Given the description of an element on the screen output the (x, y) to click on. 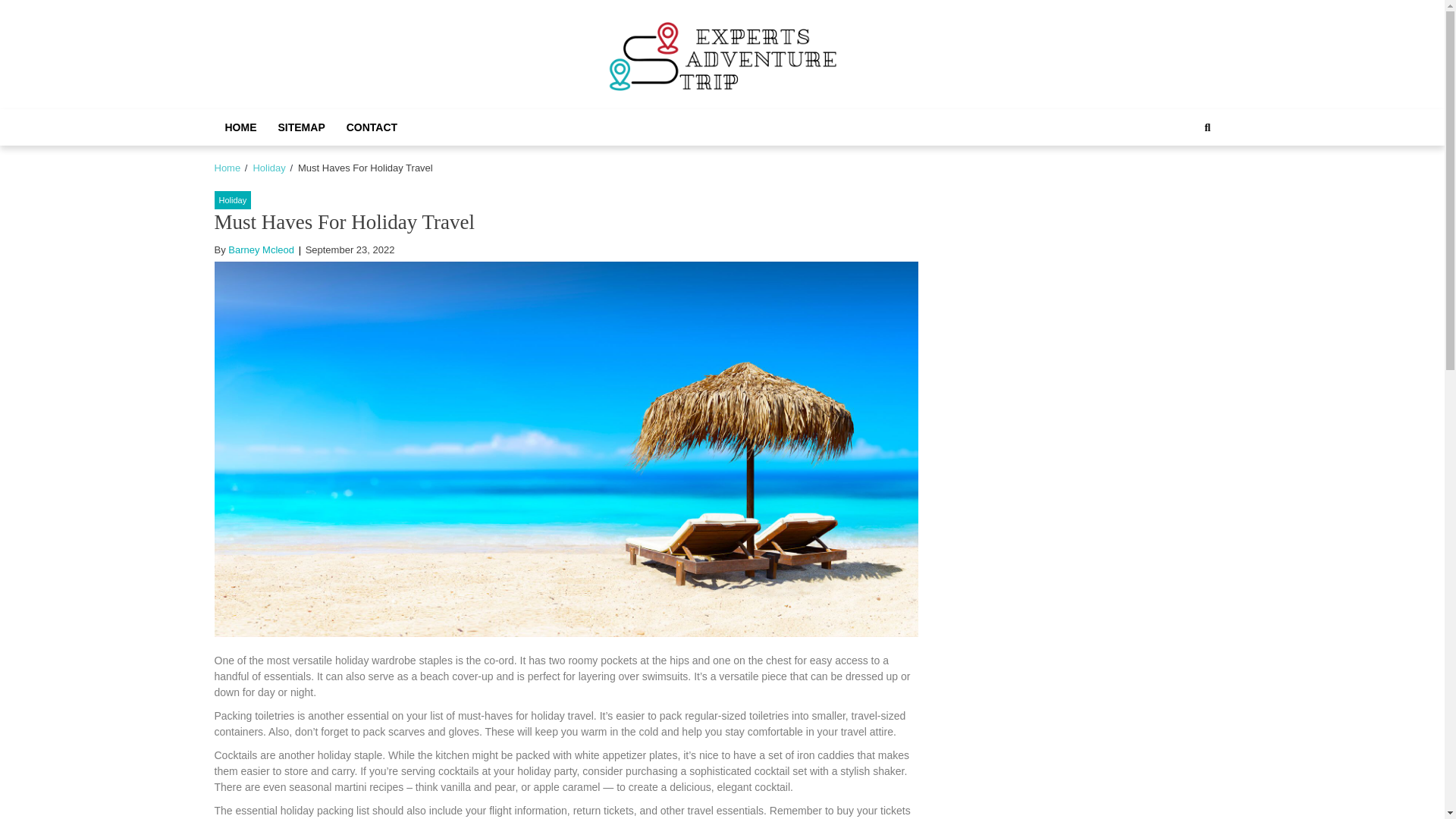
HOME (240, 126)
Experts Adventure Trip (765, 111)
SITEMAP (300, 126)
Holiday (268, 167)
Barney Mcleod (261, 249)
Holiday (232, 199)
Home (227, 167)
Search (1207, 126)
CONTACT (371, 126)
Search (1191, 178)
